Given the description of an element on the screen output the (x, y) to click on. 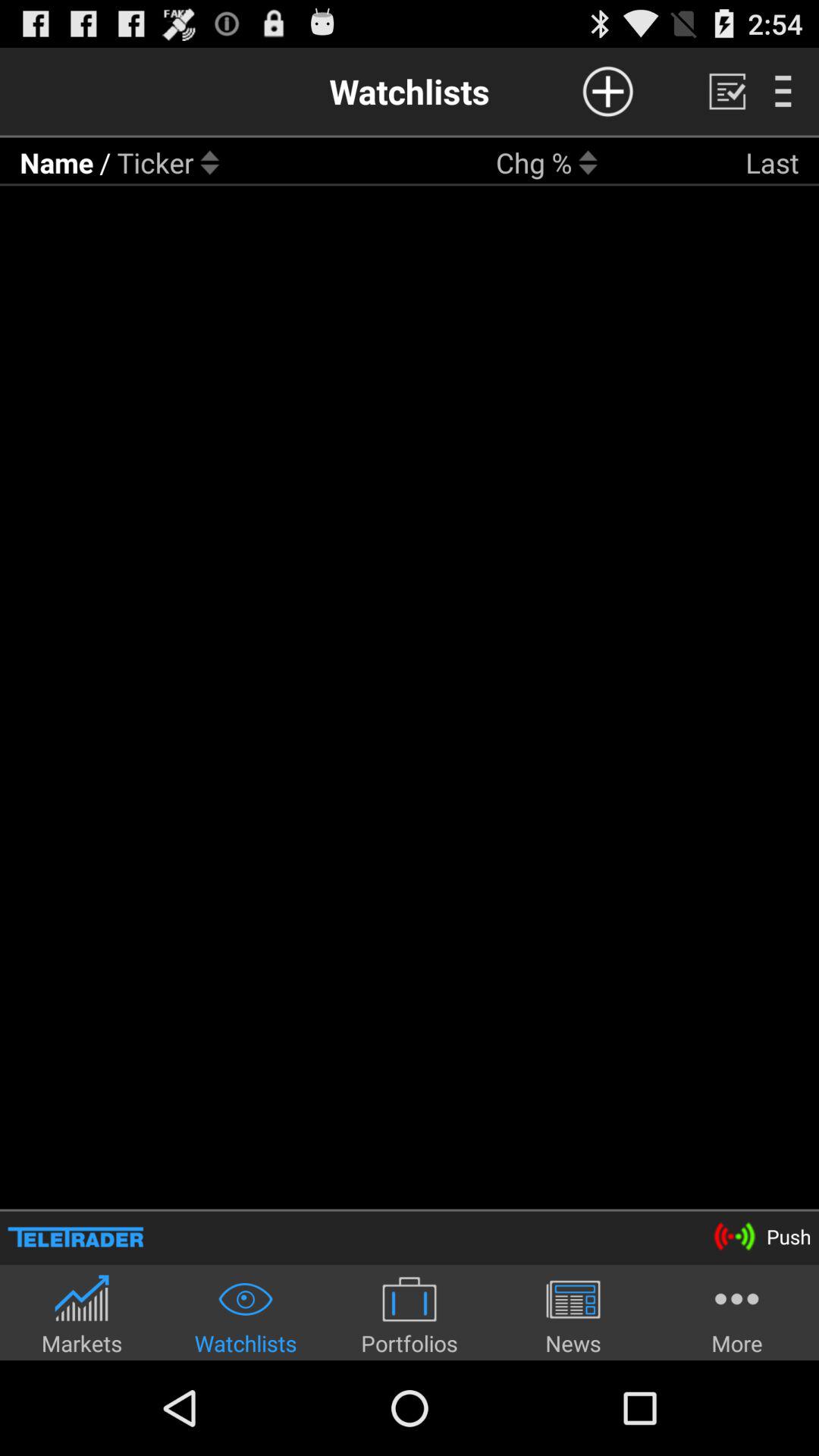
open app next to the news app (737, 1314)
